Given the description of an element on the screen output the (x, y) to click on. 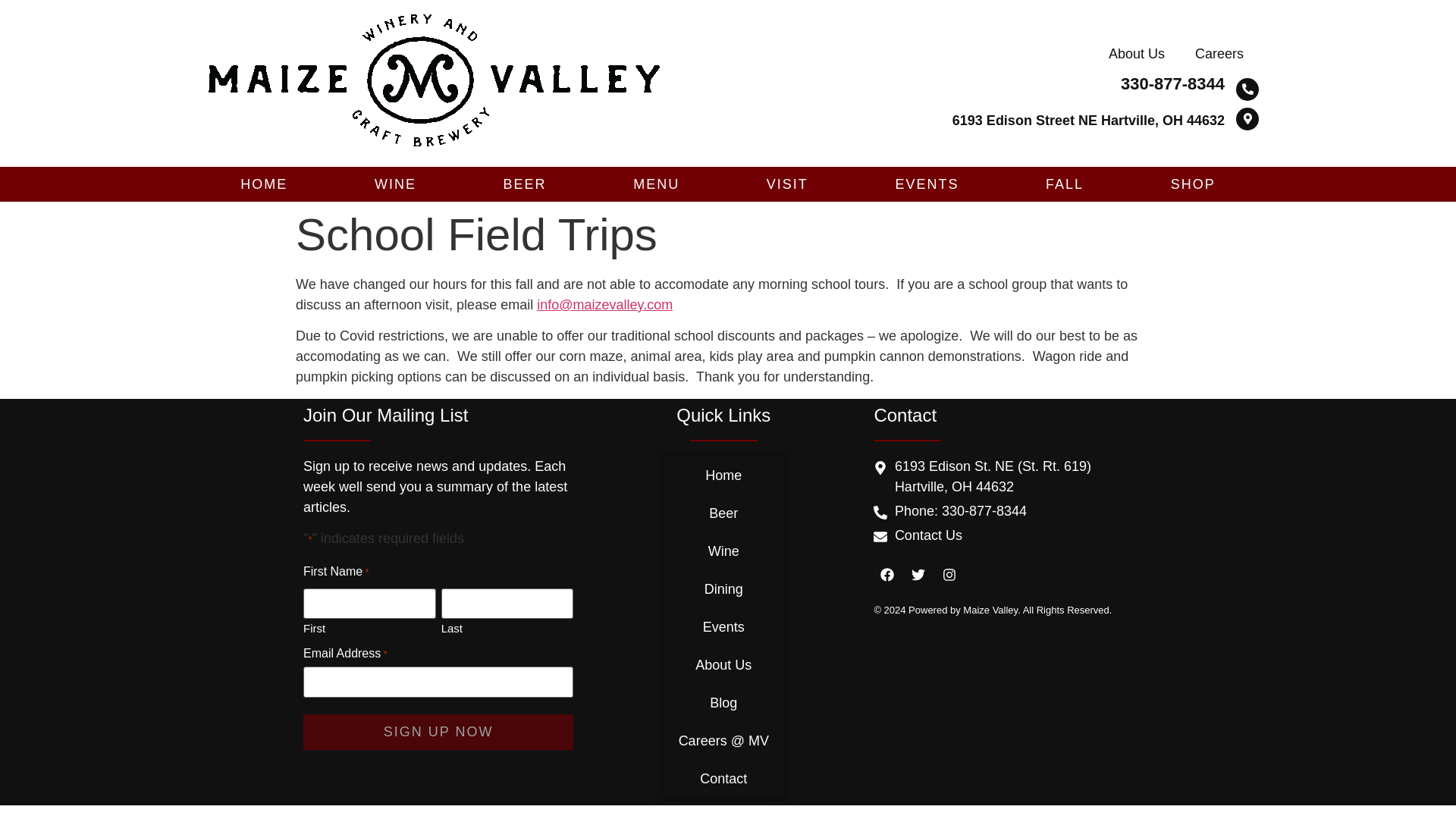
FALL (1064, 184)
Careers (1219, 53)
MENU (656, 184)
BEER (524, 184)
VISIT (786, 184)
HOME (263, 184)
WINE (395, 184)
About Us (1136, 53)
SHOP (1192, 184)
EVENTS (927, 184)
